Given the description of an element on the screen output the (x, y) to click on. 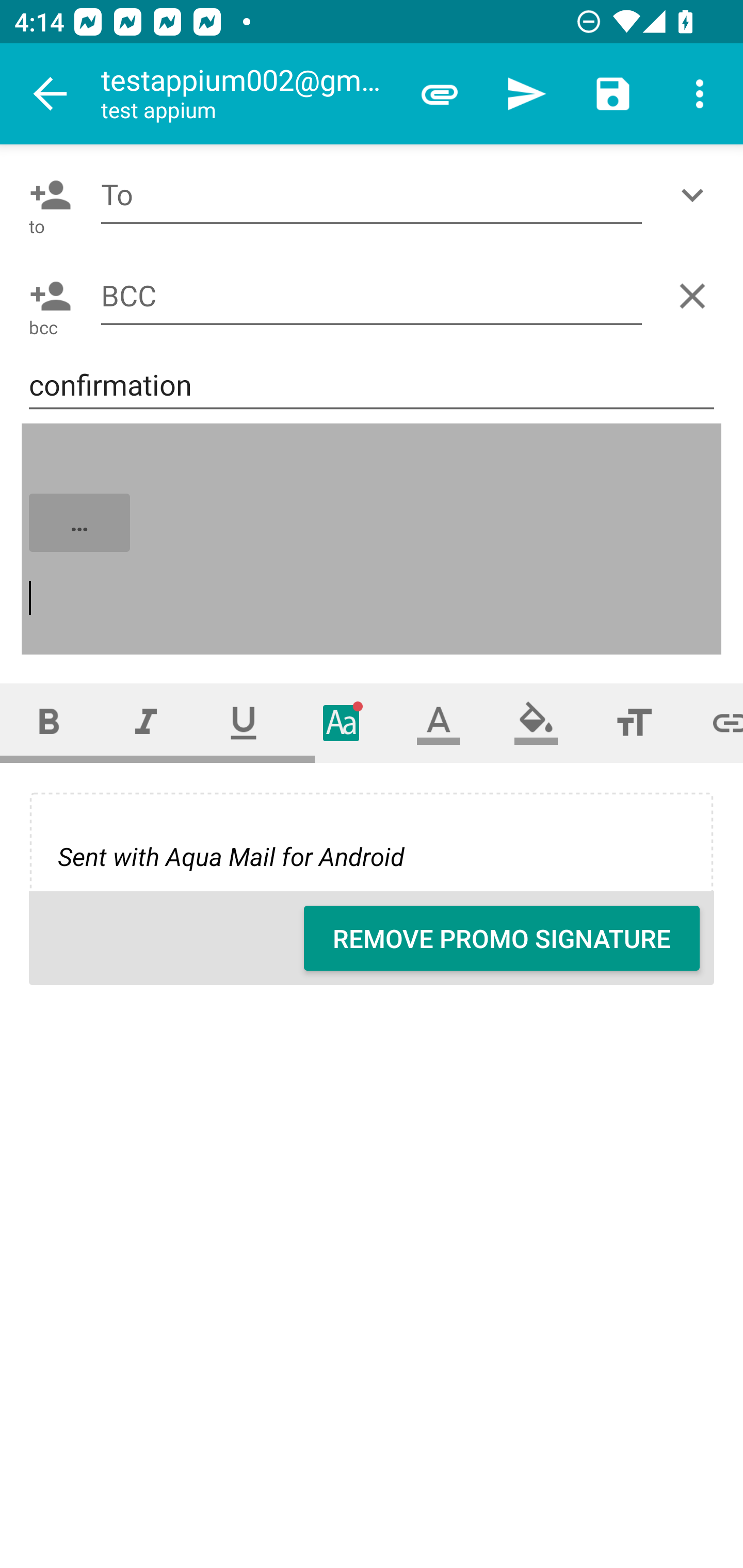
Navigate up (50, 93)
testappium002@gmail.com test appium (248, 93)
Attach (439, 93)
Send (525, 93)
Save (612, 93)
More options (699, 93)
Pick contact: To (46, 195)
Show/Add CC/BCC (696, 195)
To (371, 195)
Pick contact: BCC (46, 296)
Delete (696, 296)
BCC (371, 295)
confirmation (371, 384)

…
 (372, 540)
Bold (48, 723)
Italic (145, 723)
Underline (243, 723)
Typeface (font) (341, 723)
Text color (438, 723)
Fill color (536, 723)
Font size (633, 723)
REMOVE PROMO SIGNATURE (501, 938)
